Given the description of an element on the screen output the (x, y) to click on. 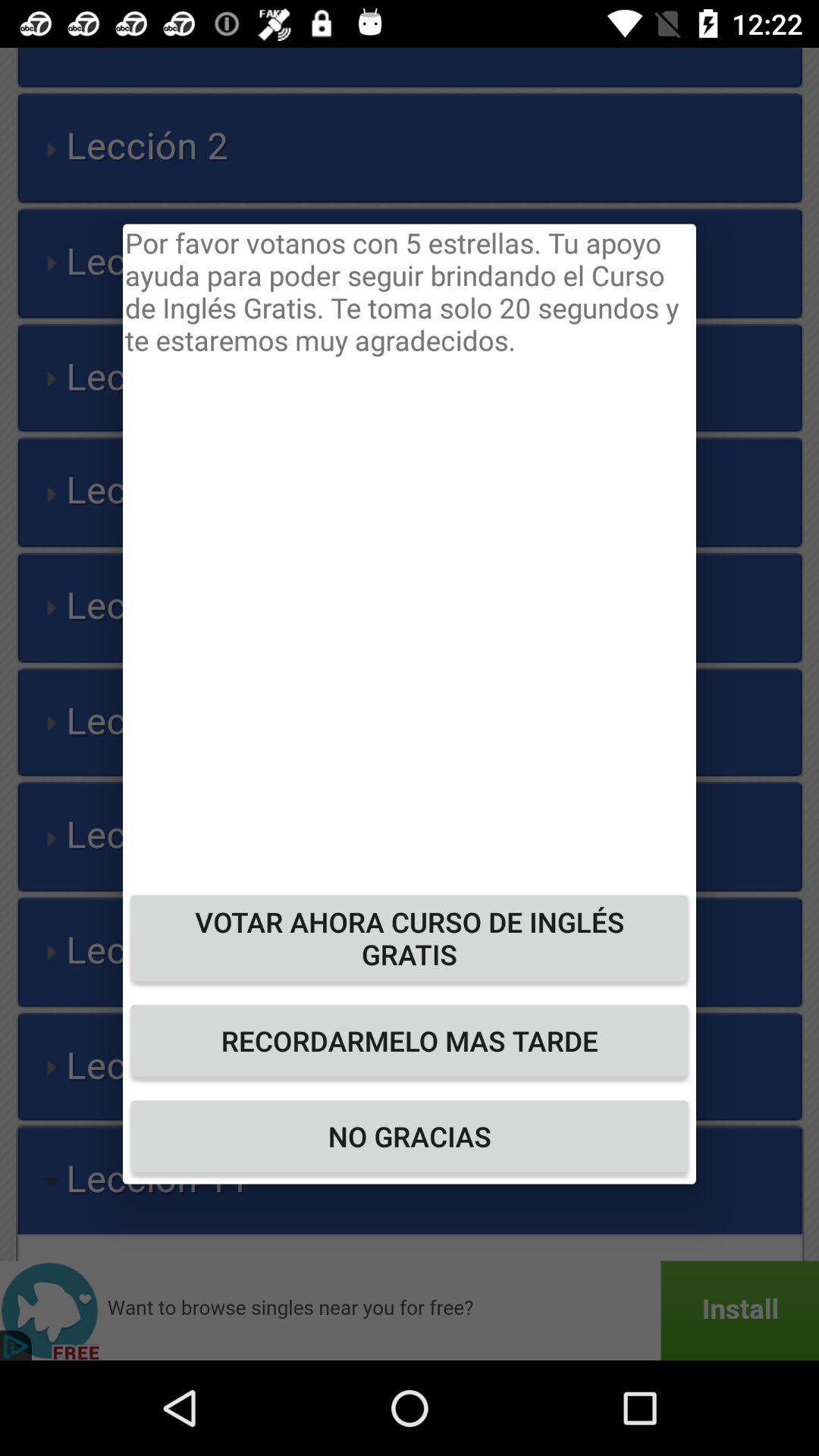
swipe until no gracias item (409, 1136)
